Given the description of an element on the screen output the (x, y) to click on. 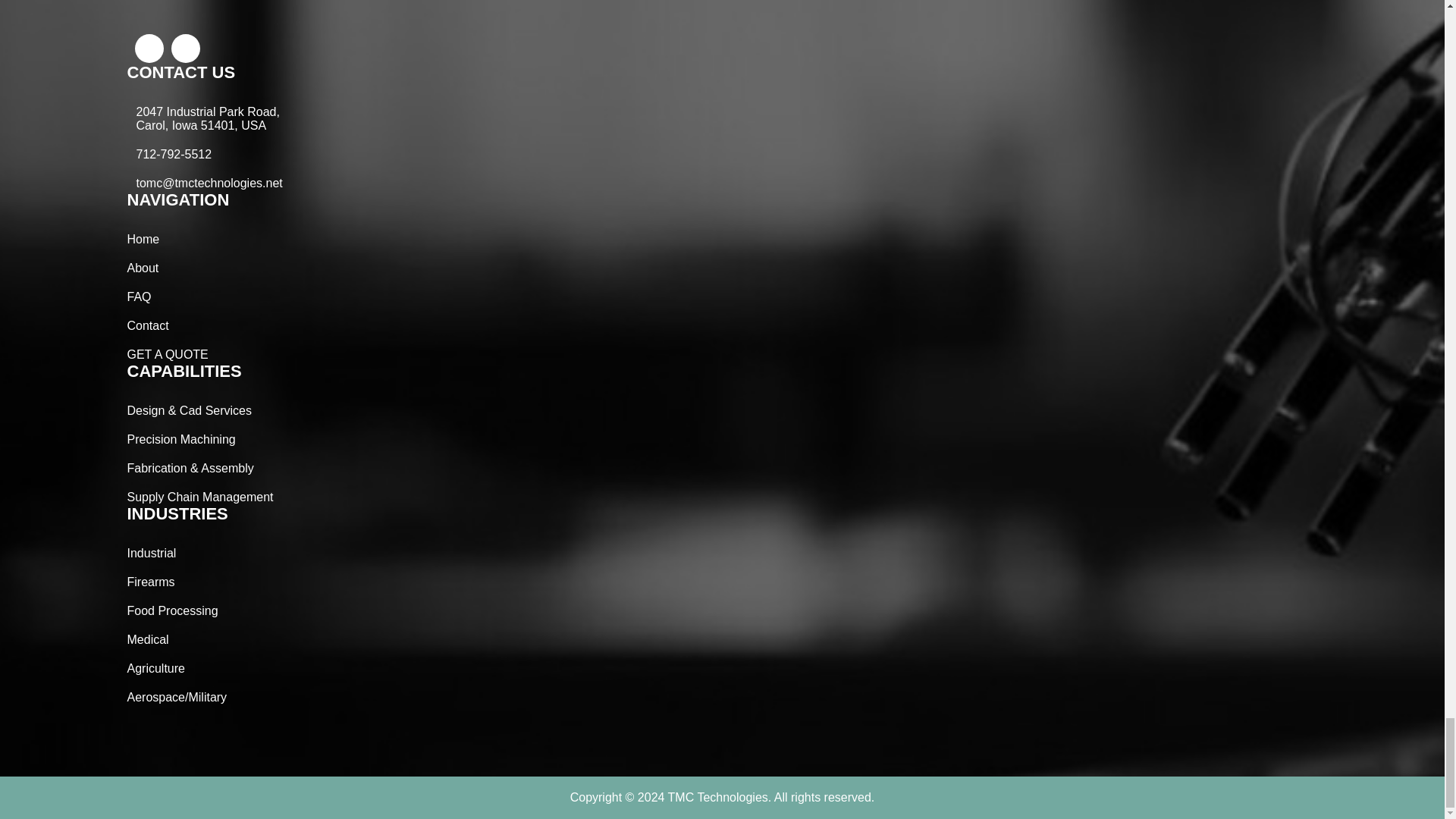
712-792-5512 (174, 154)
